Given the description of an element on the screen output the (x, y) to click on. 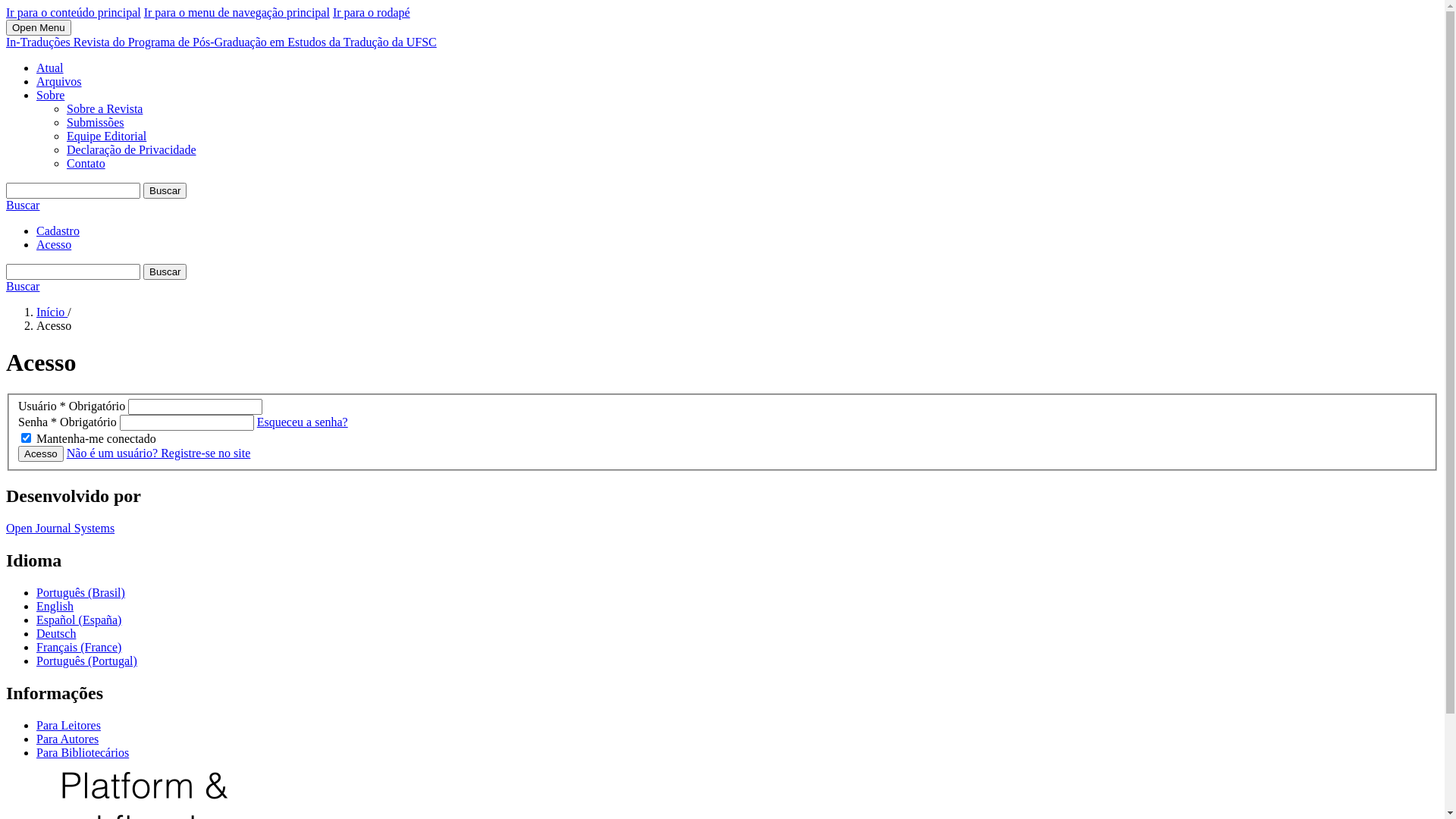
Buscar Element type: text (164, 271)
Equipe Editorial Element type: text (106, 135)
Buscar Element type: text (22, 204)
Buscar Element type: text (22, 285)
Open Menu Element type: text (38, 27)
Deutsch Element type: text (55, 633)
Esqueceu a senha? Element type: text (302, 421)
Para Leitores Element type: text (68, 724)
Acesso Element type: text (40, 453)
Cadastro Element type: text (57, 230)
Open Journal Systems Element type: text (60, 527)
Para Autores Element type: text (67, 738)
Contato Element type: text (85, 162)
Arquivos Element type: text (58, 81)
Acesso Element type: text (53, 244)
Atual Element type: text (49, 67)
Sobre a Revista Element type: text (104, 108)
Buscar Element type: text (164, 190)
Sobre Element type: text (50, 94)
English Element type: text (54, 605)
